Given the description of an element on the screen output the (x, y) to click on. 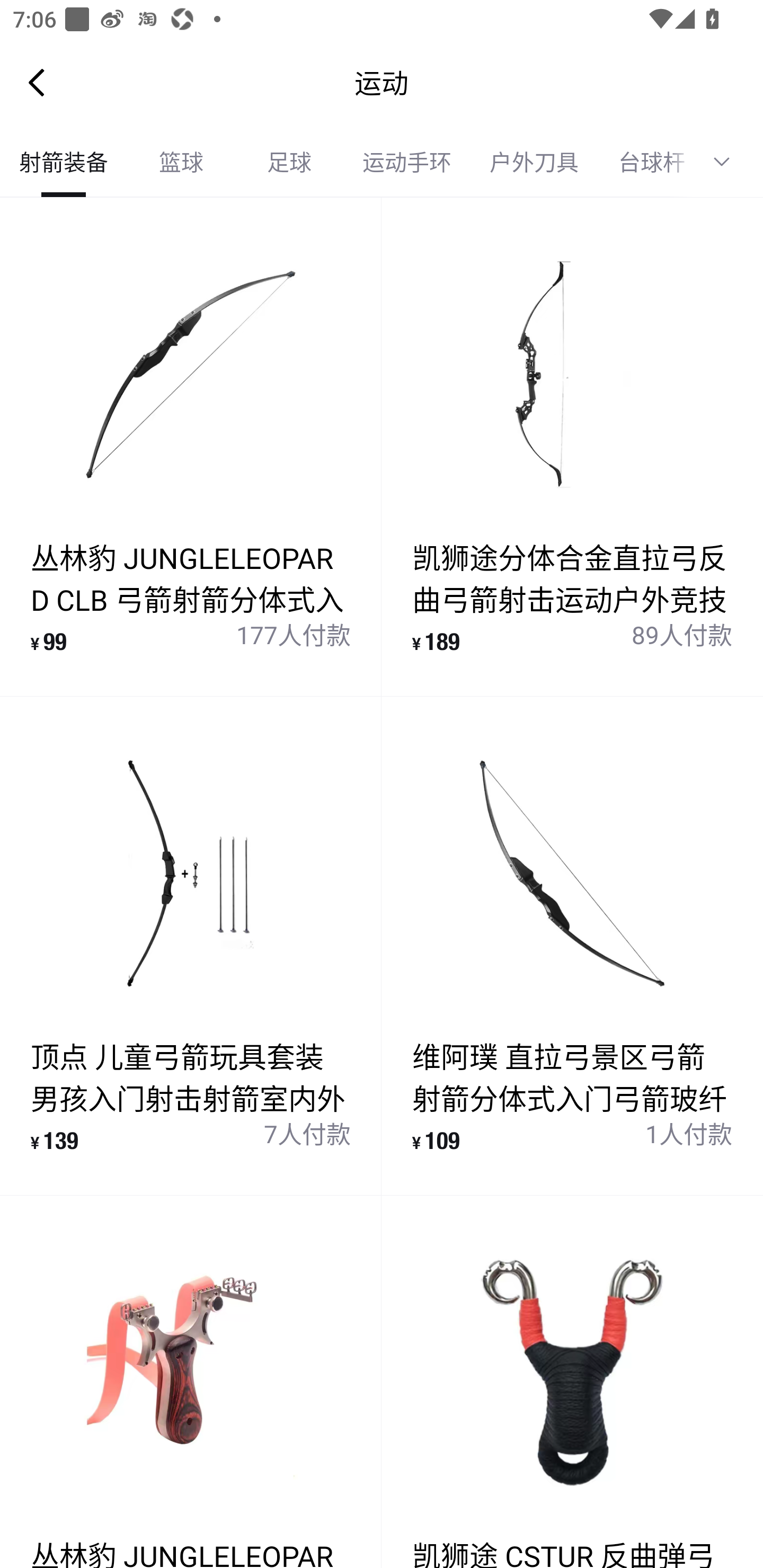
Navigate up (36, 82)
射箭装备 (63, 162)
篮球 (181, 162)
足球 (289, 162)
运动手环 (406, 162)
户外刀具 (533, 162)
台球杆 (644, 162)
 (727, 162)
凯狮途分体合金直拉弓反
曲弓箭射击运动户外竞技 ¥ 189 89人付款 (572, 446)
维阿璞 直拉弓景区弓箭
射箭分体式入门弓箭玻纤
片直拉弓 ¥ 109 1人付款 (572, 945)
丛林豹 JUNGLELEOPAR
D CLB 皮弹弓精准快压不
锈钢弹弓弹弓 男女同款 (190, 1381)
凯狮途 CSTUR 反曲弹弓
传统户外竞技户外弹弓两
股圆皮筋直挂反曲弓射箭
装备 (572, 1381)
